Given the description of an element on the screen output the (x, y) to click on. 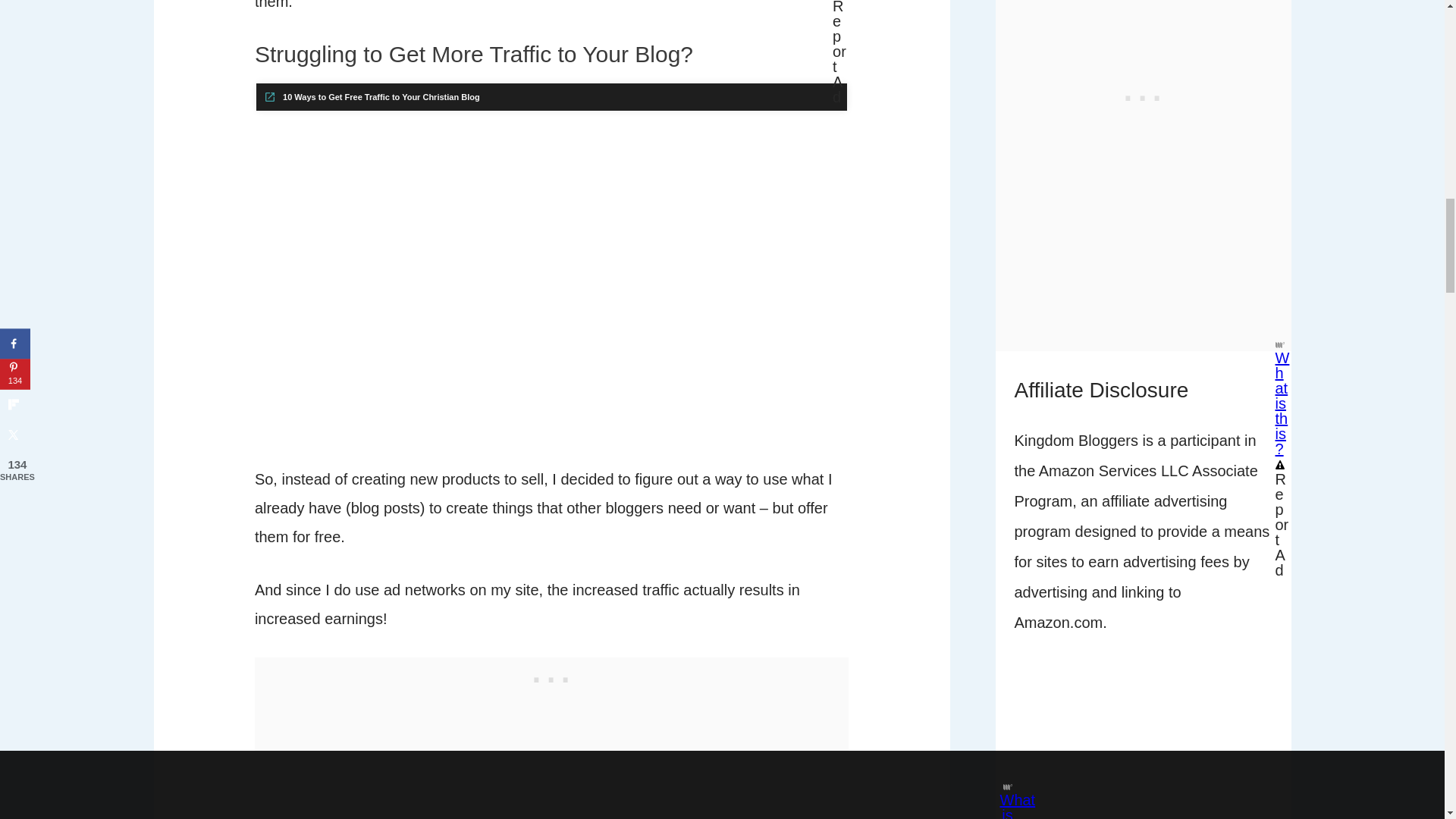
3rd party ad content (1143, 42)
3rd party ad content (1143, 772)
3rd party ad content (551, 676)
